Given the description of an element on the screen output the (x, y) to click on. 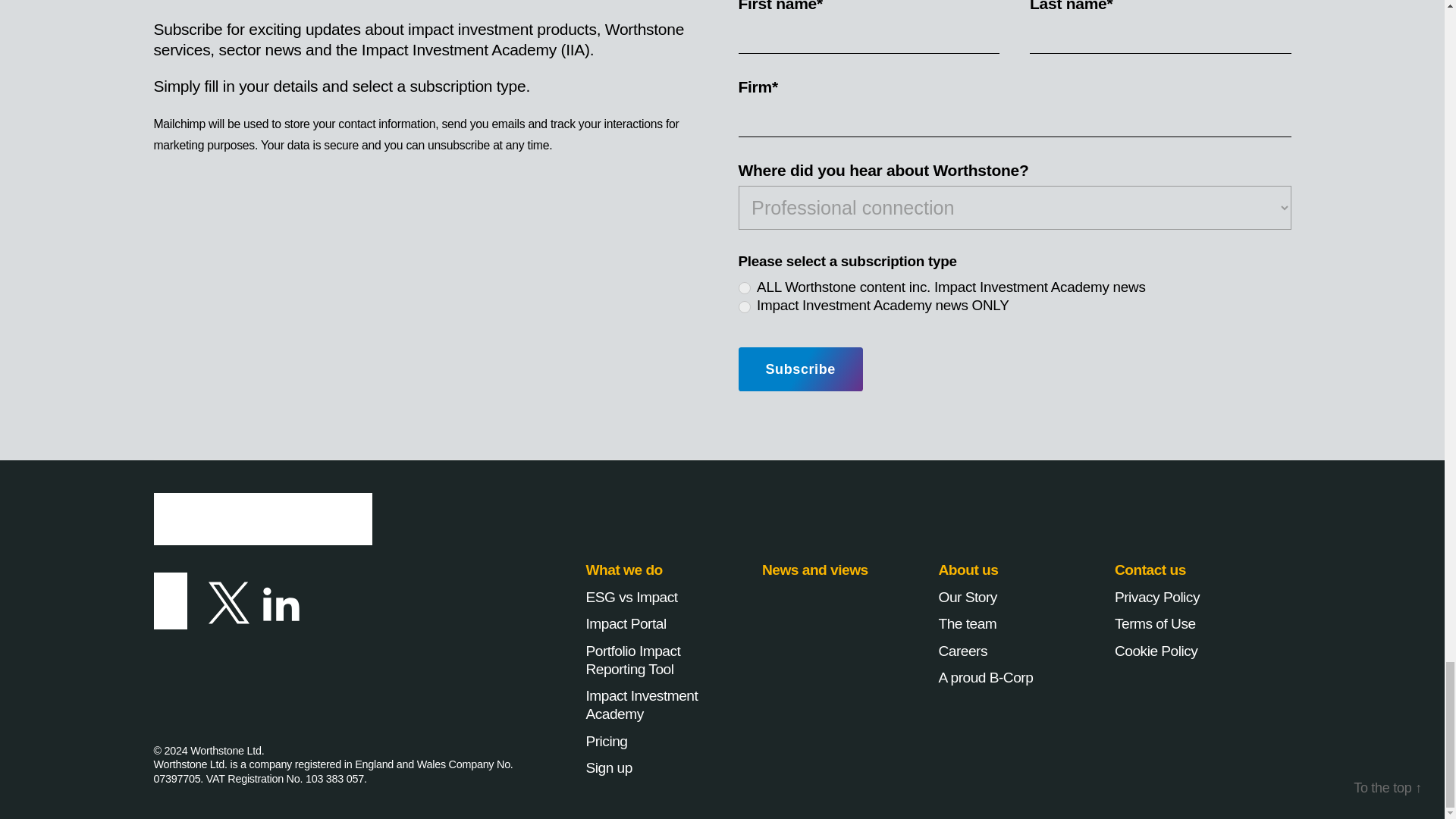
042c5f28a4 (744, 306)
47ef06cc24 (744, 287)
Subscribe (800, 369)
